Given the description of an element on the screen output the (x, y) to click on. 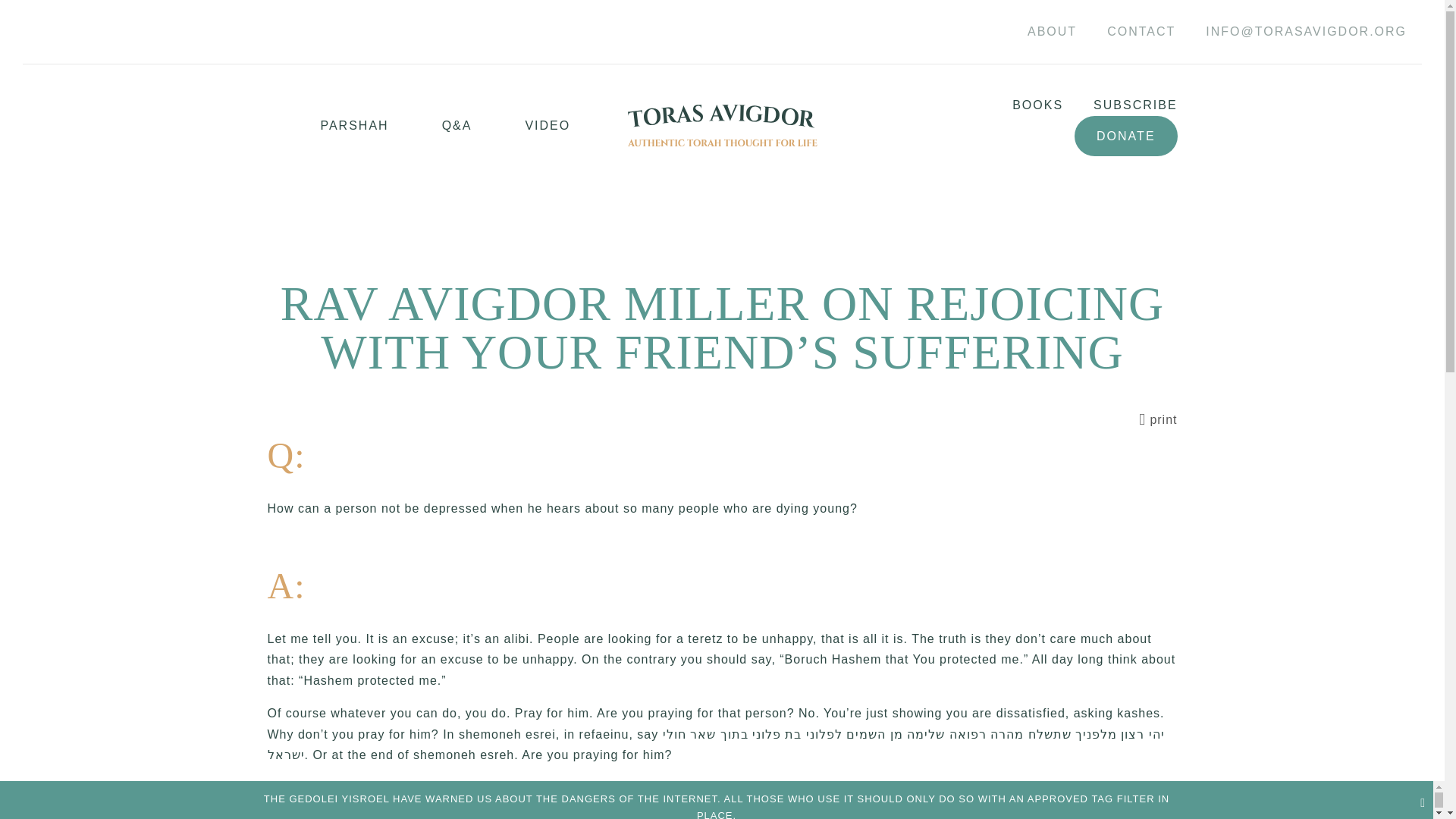
VIDEO (520, 125)
SUBSCRIBE (1119, 105)
DONATE (1125, 136)
CONTACT (1141, 31)
PARSHAH (327, 125)
ABOUT (1051, 31)
BOOKS (1021, 105)
